Given the description of an element on the screen output the (x, y) to click on. 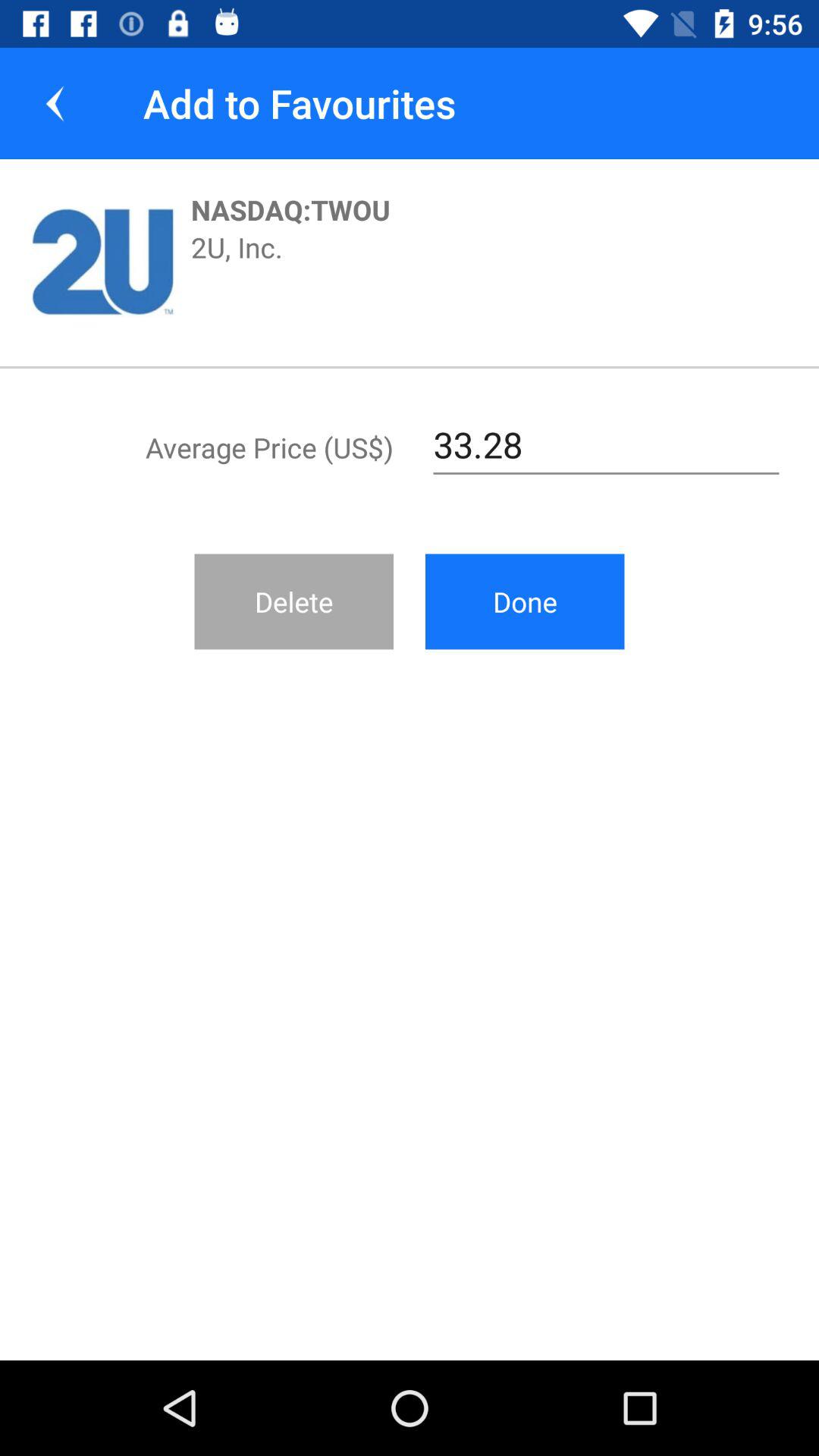
select the item to the left of add to favourites item (55, 103)
